Given the description of an element on the screen output the (x, y) to click on. 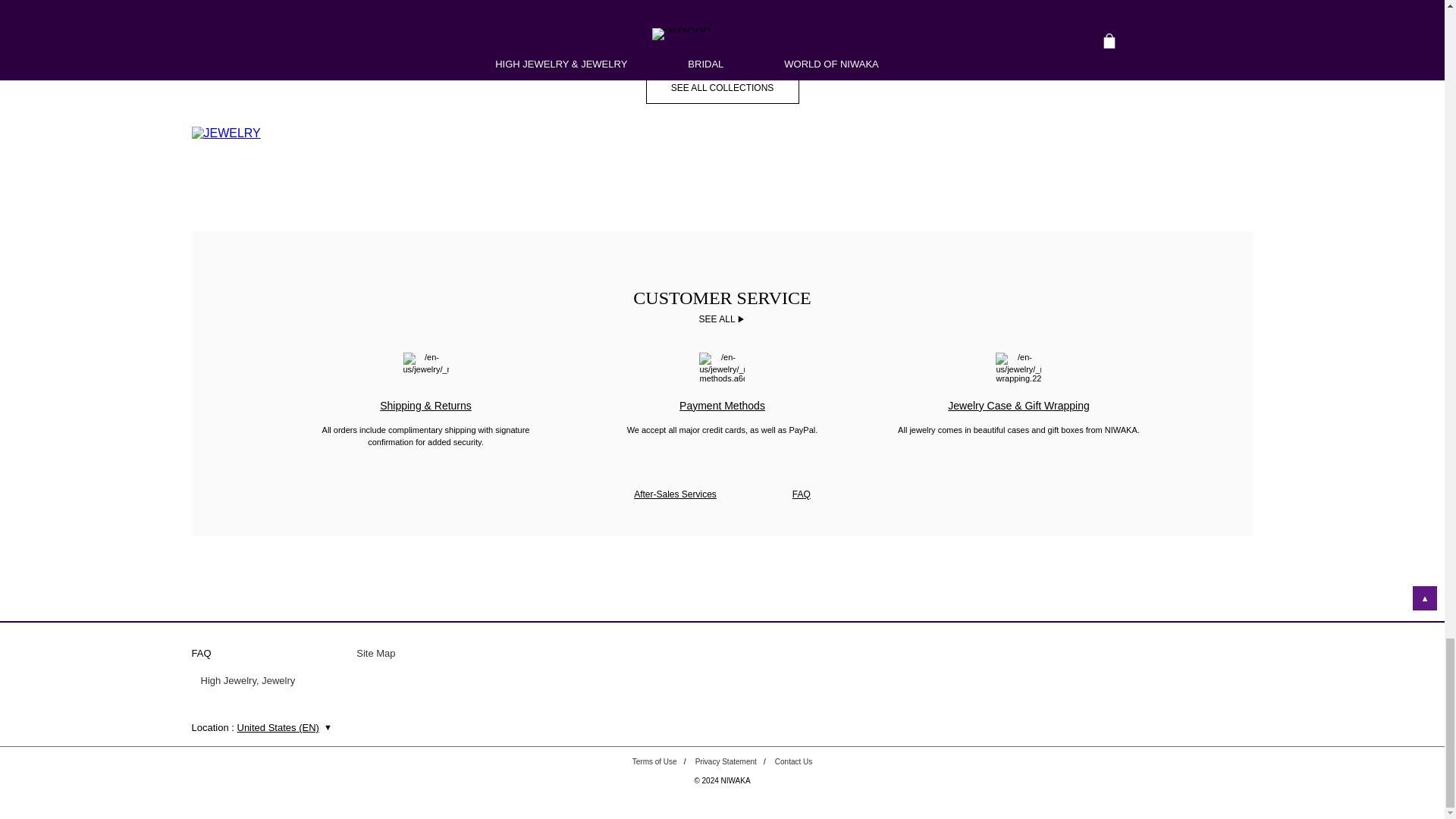
High Jewelry, Jewelry (247, 683)
SEE ALL COLLECTIONS (721, 133)
FAQ (801, 493)
Privacy Statement (726, 761)
Site Map (375, 655)
After-Sales Services (674, 493)
Terms of Use (654, 761)
SEE ALL  (721, 319)
